Given the description of an element on the screen output the (x, y) to click on. 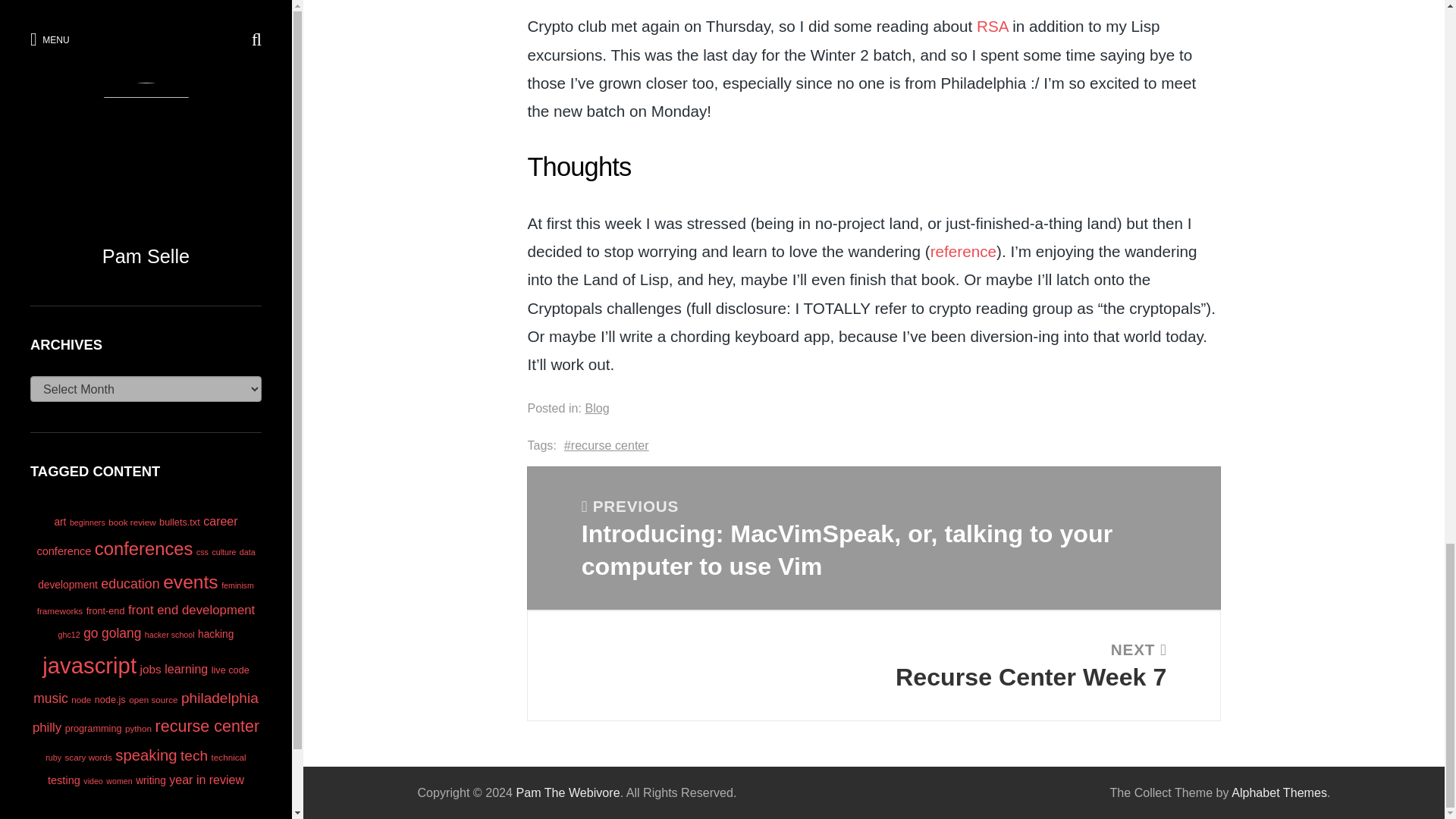
RSA (991, 26)
reference (873, 665)
recurse center (962, 251)
Blog (606, 445)
